Given the description of an element on the screen output the (x, y) to click on. 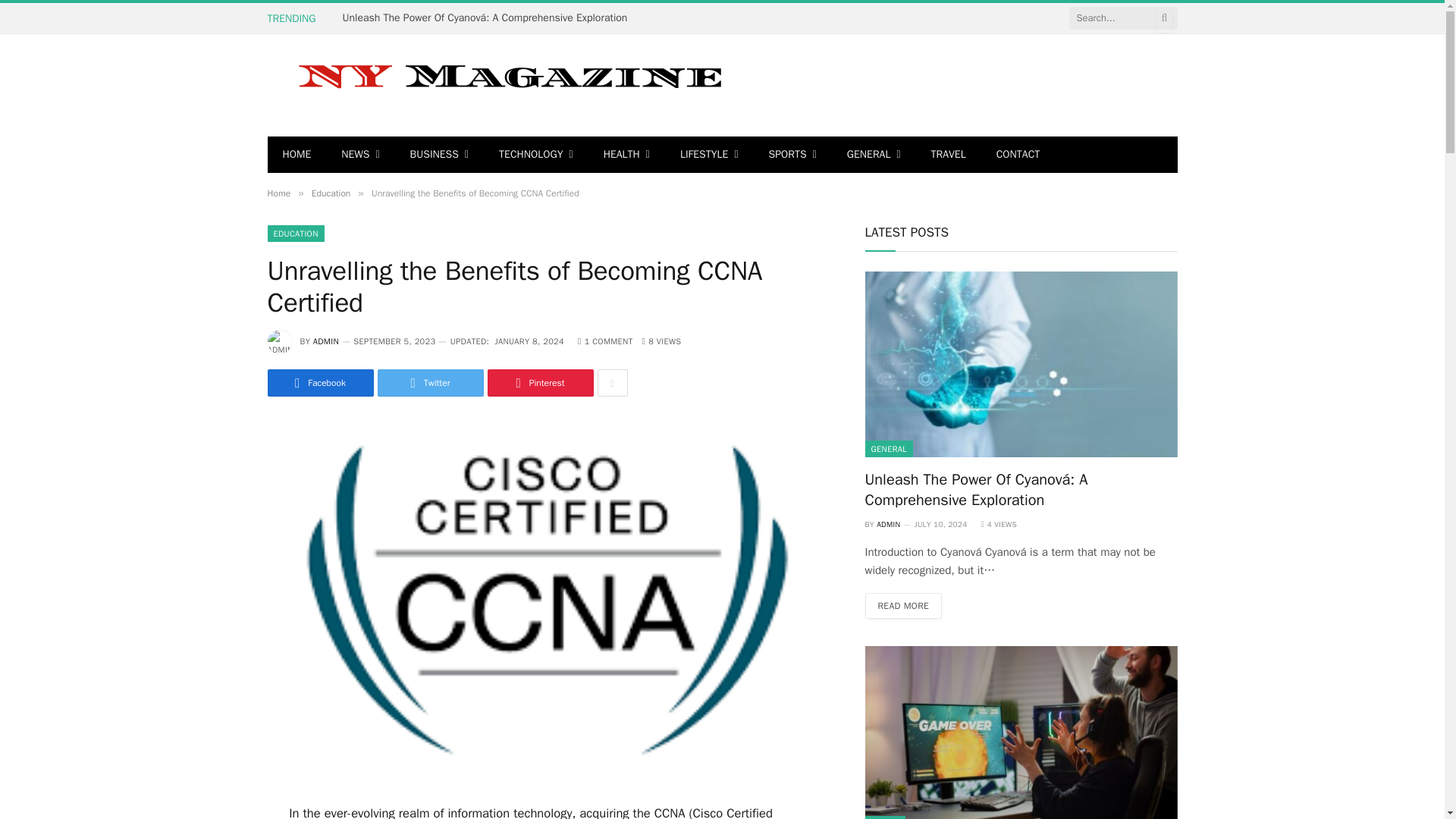
NEWS (360, 154)
HOME (296, 154)
Ny Magazine (505, 84)
